Given the description of an element on the screen output the (x, y) to click on. 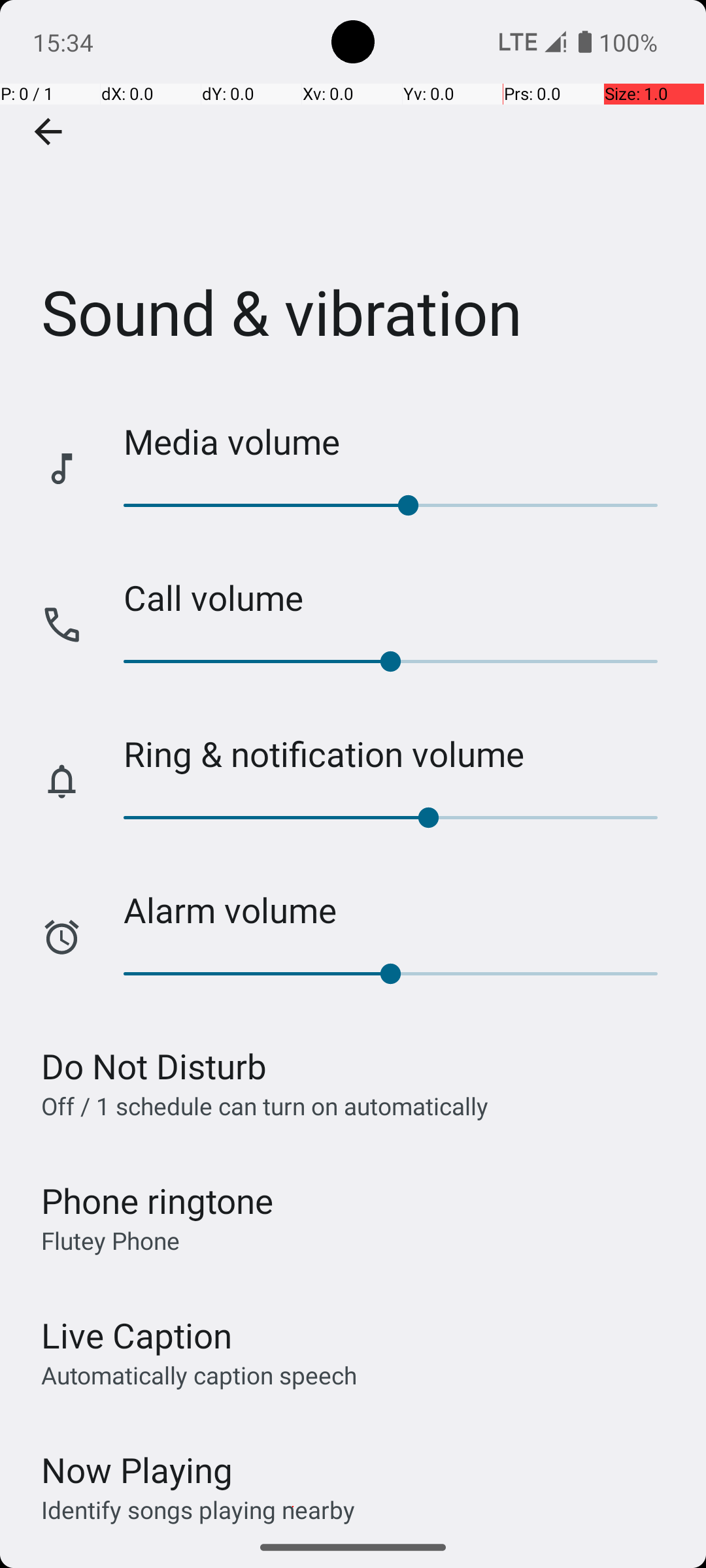
Off / 1 schedule can turn on automatically Element type: android.widget.TextView (264, 1105)
